Given the description of an element on the screen output the (x, y) to click on. 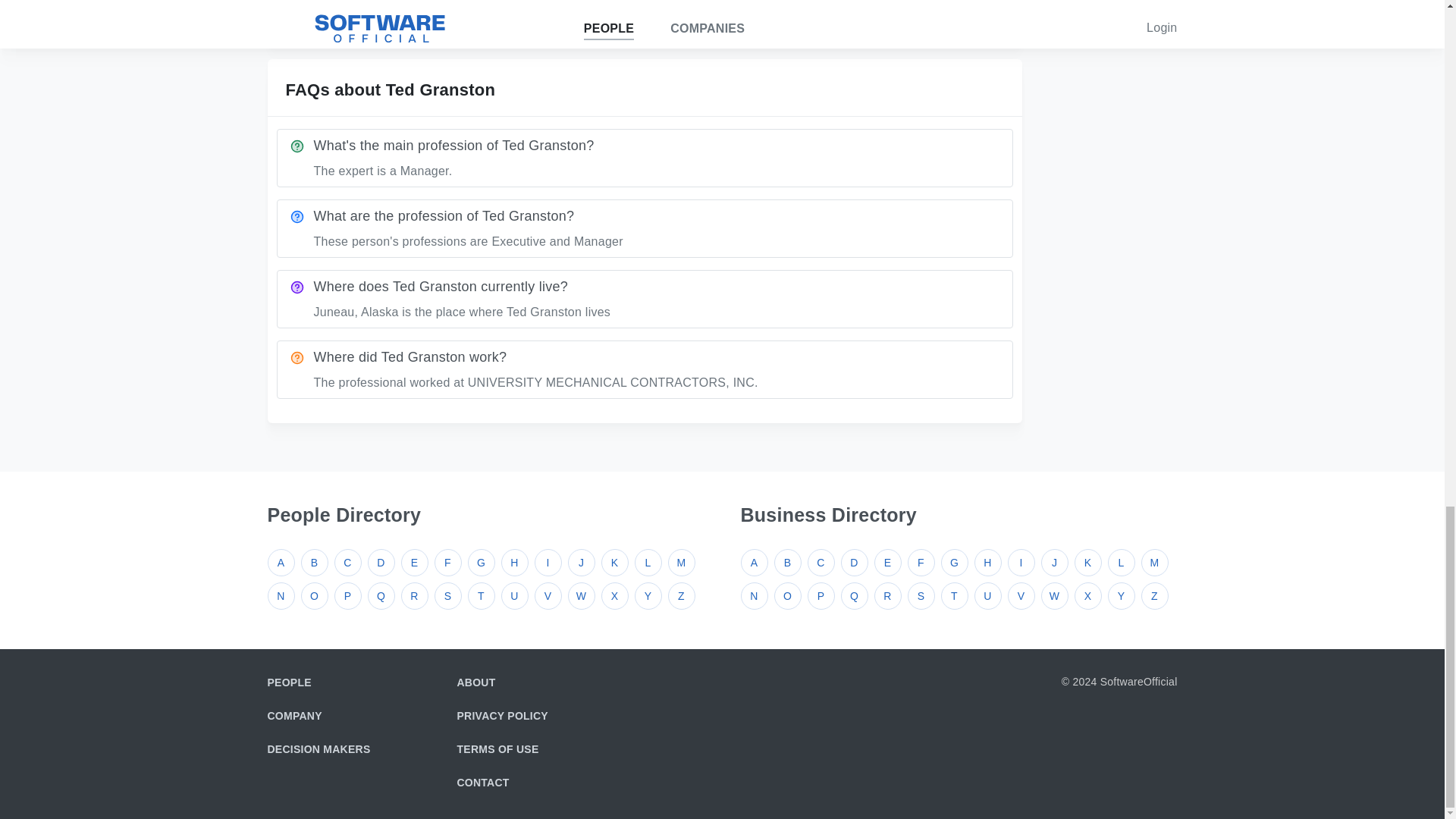
J (580, 562)
N (280, 595)
A (280, 562)
L (647, 562)
M (680, 562)
H (513, 562)
G (481, 562)
F (447, 562)
O (313, 595)
I (547, 562)
K (613, 562)
C (347, 562)
P (347, 595)
Q (380, 595)
B (313, 562)
